Given the description of an element on the screen output the (x, y) to click on. 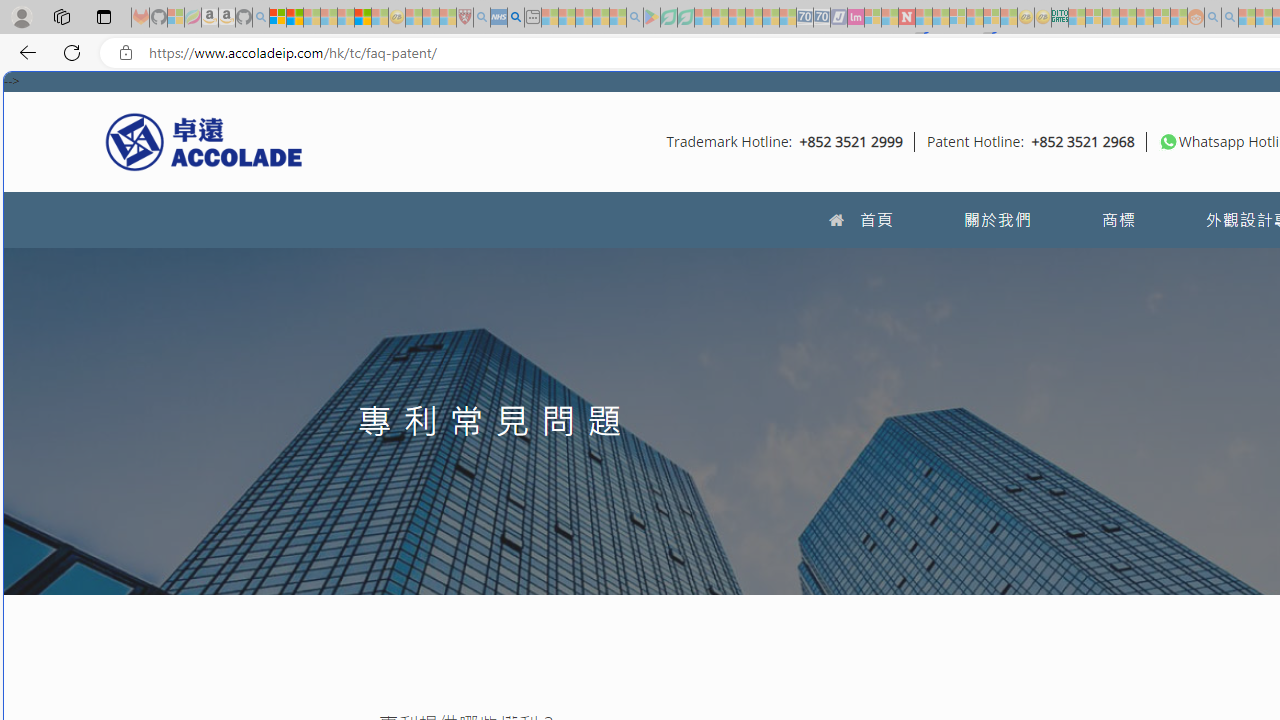
Accolade IP HK Logo (203, 141)
Expert Portfolios - Sleeping (1128, 17)
